Given the description of an element on the screen output the (x, y) to click on. 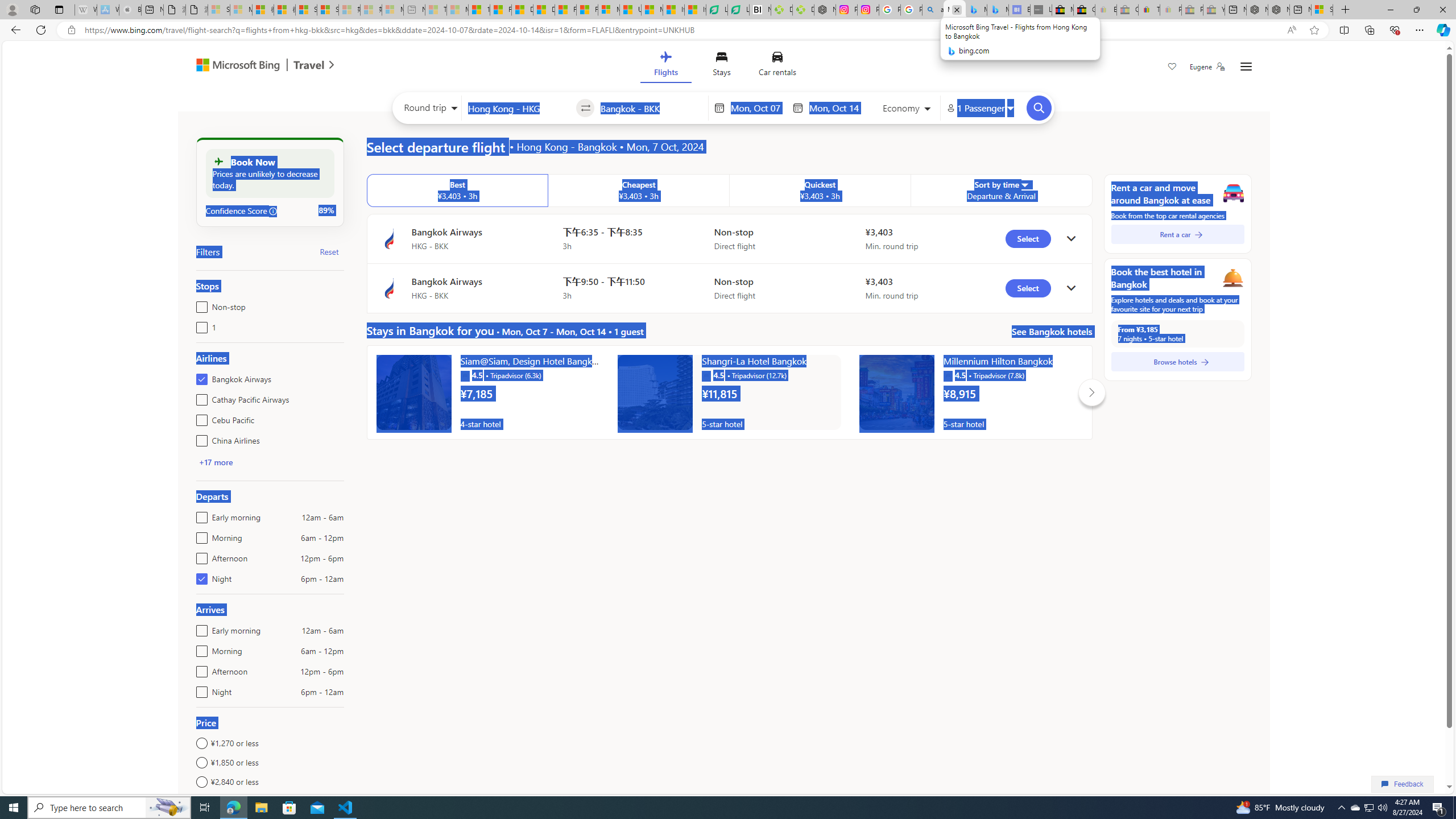
Tripadvisor (947, 375)
Save (1171, 67)
Nordace - Nordace Edin Collection (824, 9)
Select class of service (906, 109)
Microsoft Bing Travel - Shangri-La Hotel Bangkok (997, 9)
Microsoft Bing Travel (253, 65)
Buy iPad - Apple - Sleeping (130, 9)
+17 more (215, 461)
Sign in to your Microsoft account - Sleeping (218, 9)
